Given the description of an element on the screen output the (x, y) to click on. 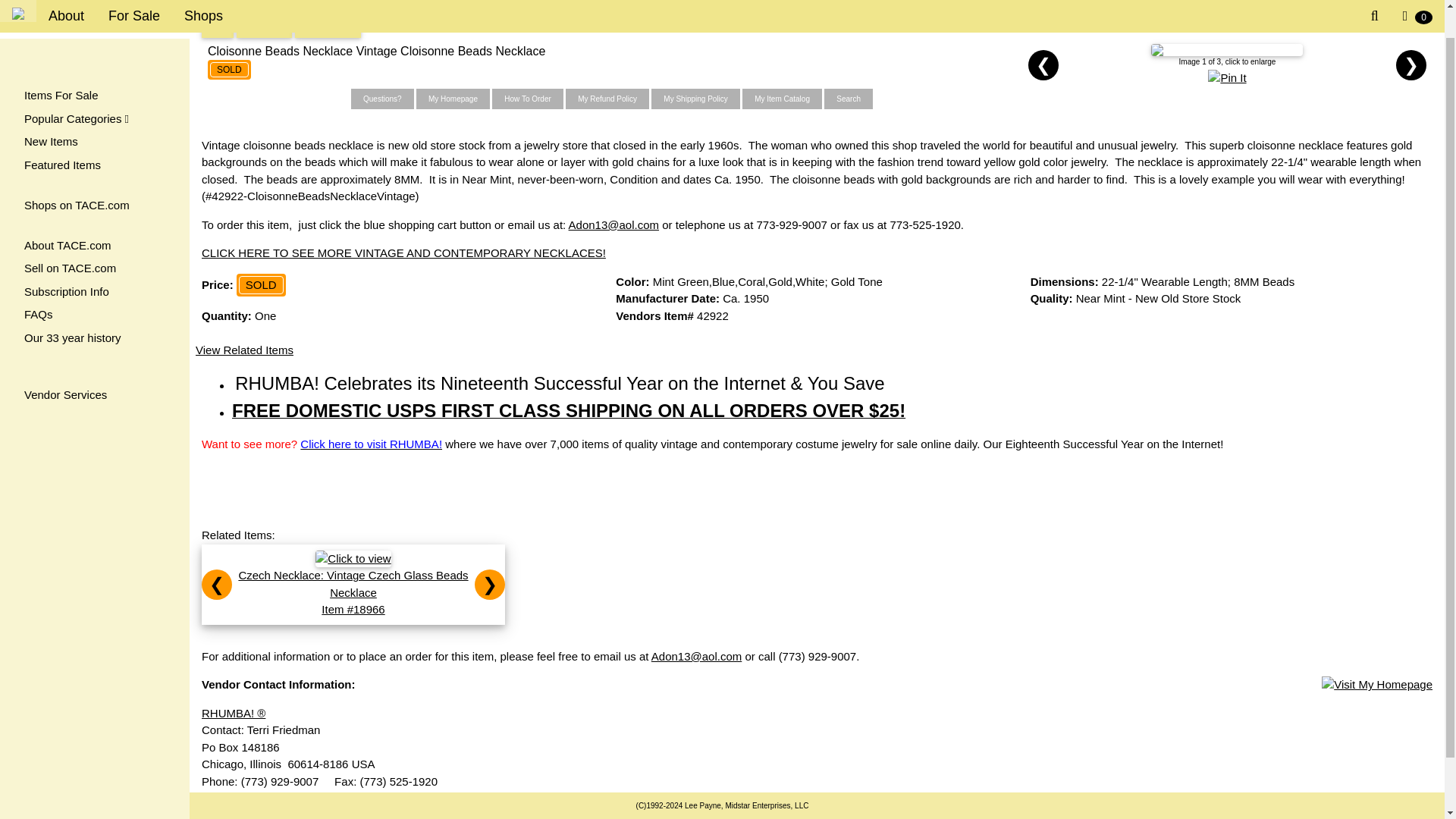
Shops (202, 1)
About (66, 1)
Jewelry (263, 26)
Featured Items (94, 135)
Items For Sale (94, 65)
Subscription Info (94, 261)
For Sale (133, 1)
Popular Categories  (94, 88)
Necklaces (328, 26)
About TACE.com (94, 215)
